Given the description of an element on the screen output the (x, y) to click on. 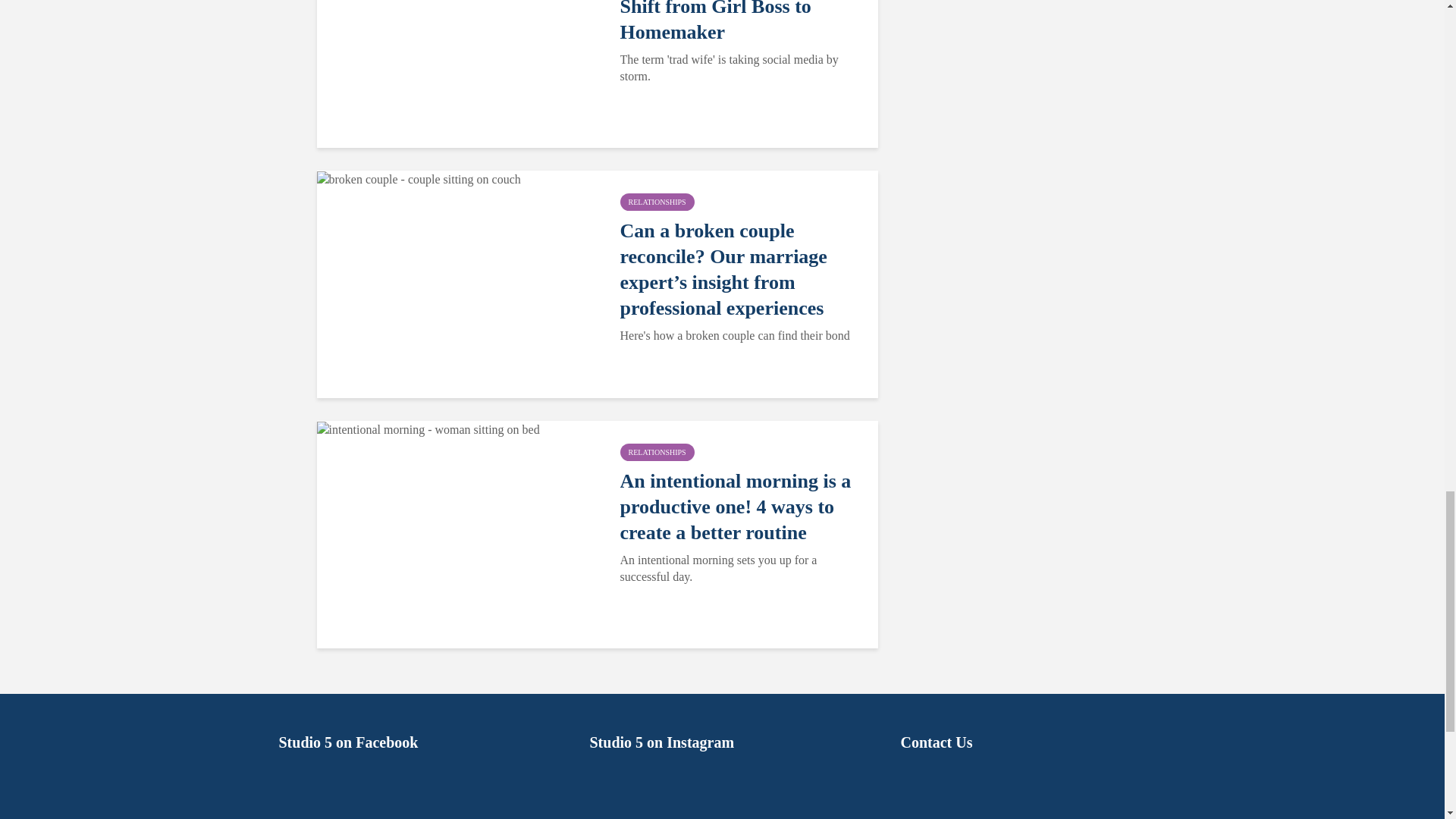
RELATIONSHIPS (657, 201)
